Given the description of an element on the screen output the (x, y) to click on. 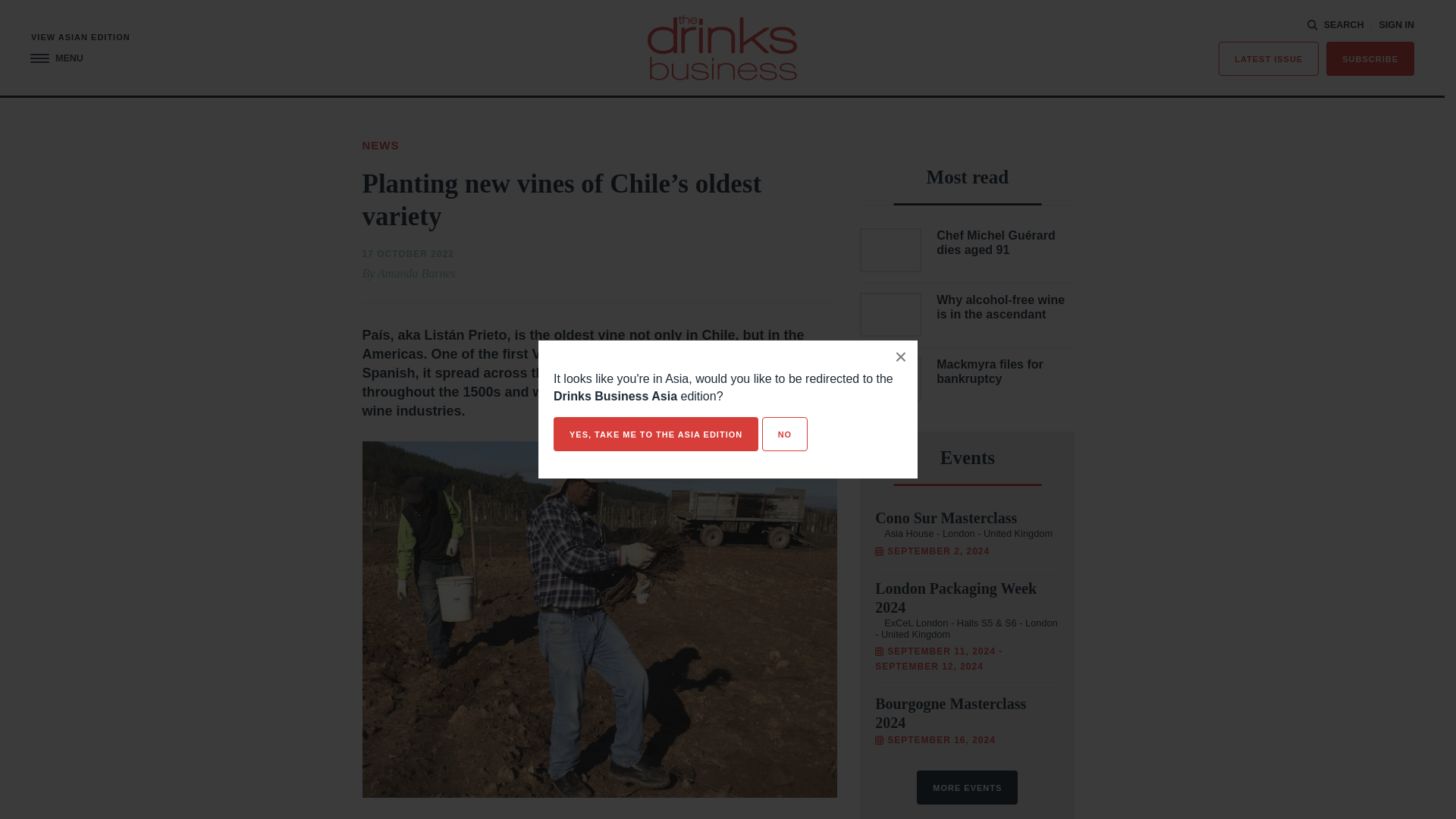
LATEST ISSUE (1268, 58)
SIGN IN (1395, 25)
NO (784, 433)
SUBSCRIBE (1369, 58)
YES, TAKE ME TO THE ASIA EDITION (655, 433)
VIEW ASIAN EDITION (80, 37)
The Drinks Business (721, 47)
